Given the description of an element on the screen output the (x, y) to click on. 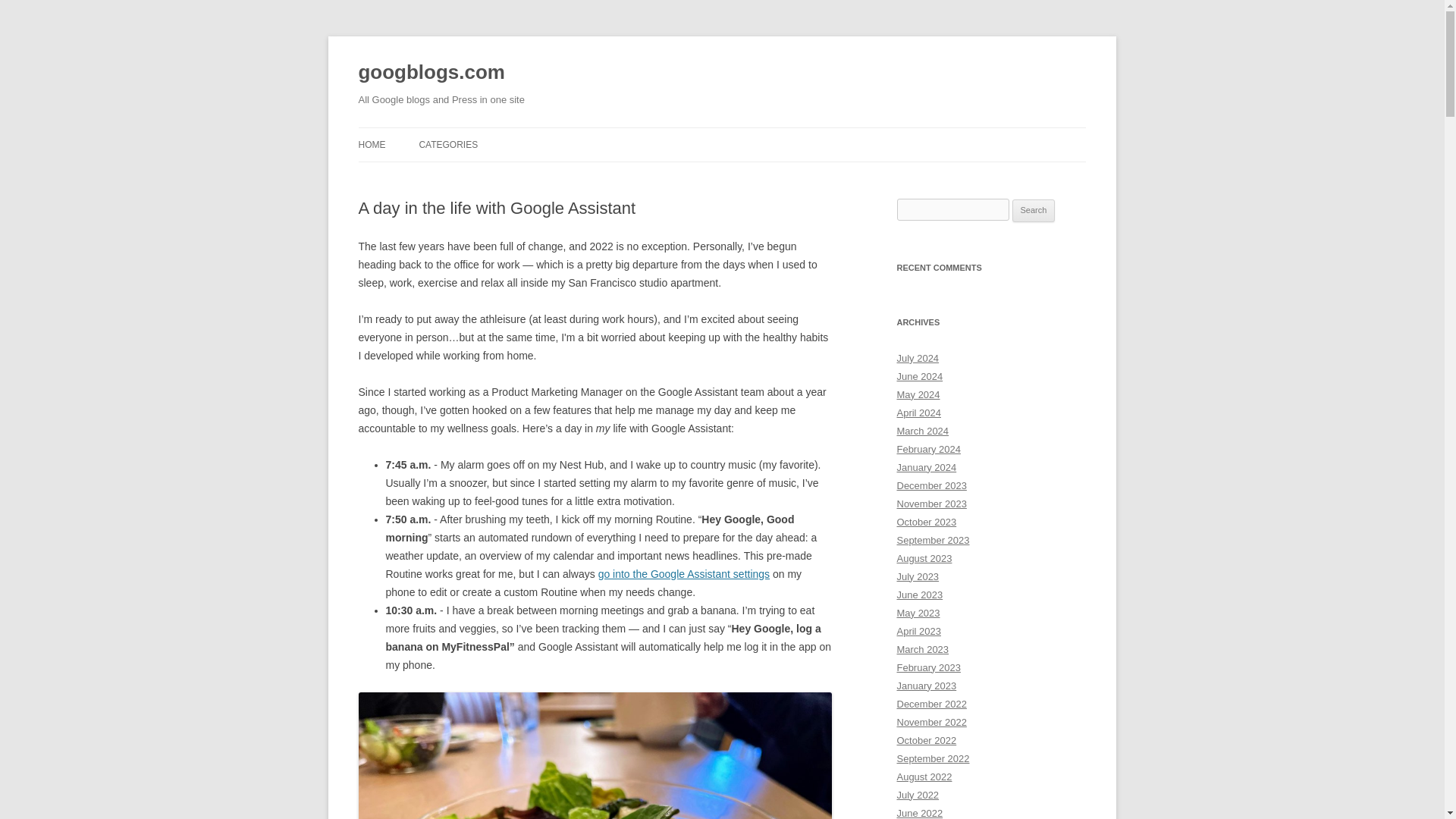
March 2024 (922, 430)
CATEGORIES (448, 144)
August 2023 (924, 558)
October 2023 (926, 521)
February 2024 (927, 449)
GOOGLE ADS DEVELOPER BLOG (494, 176)
December 2023 (931, 485)
June 2023 (919, 594)
July 2024 (917, 357)
January 2024 (926, 467)
November 2023 (931, 503)
September 2023 (932, 540)
May 2023 (917, 613)
googblogs.com (430, 72)
